Given the description of an element on the screen output the (x, y) to click on. 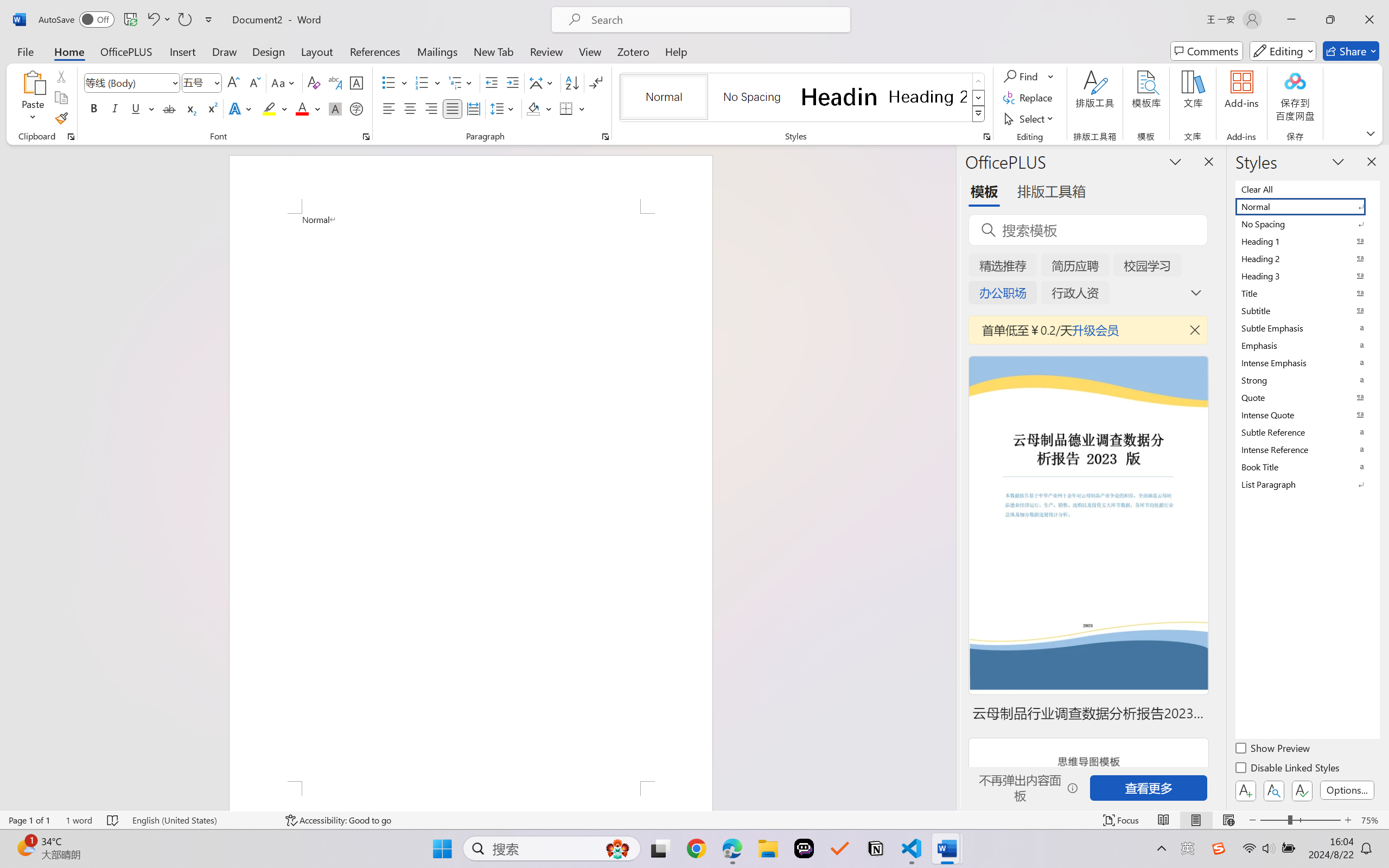
Font Size (196, 82)
Book Title (1306, 466)
Superscript (210, 108)
Page 1 content (470, 497)
Web Layout (1228, 819)
Show Preview (1273, 749)
Class: NetUIButton (1301, 790)
Minimize (1291, 19)
Intense Emphasis (1306, 362)
Font Color Red (302, 108)
Microsoft search (715, 19)
Undo Apply Quick Style (158, 19)
Cut (60, 75)
